Given the description of an element on the screen output the (x, y) to click on. 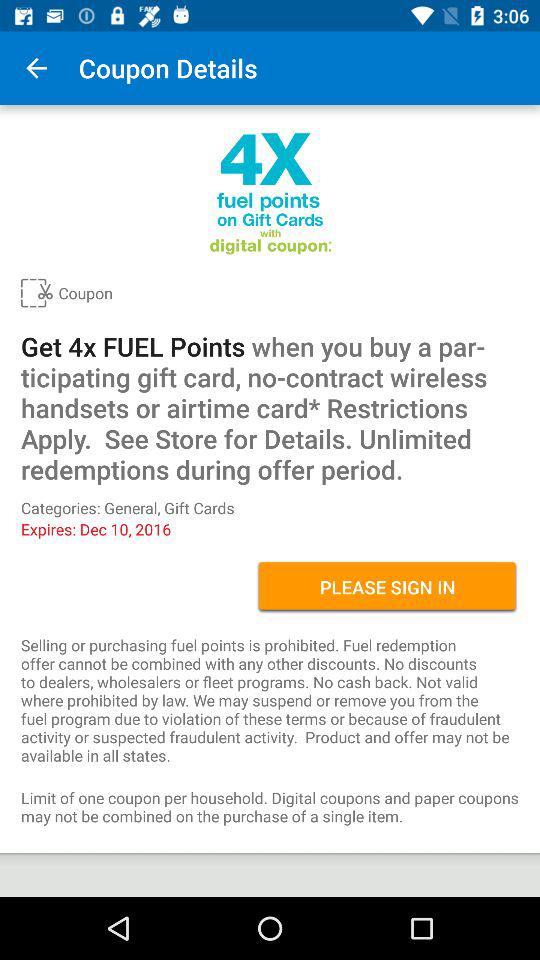
tap icon next to the coupon details item (36, 68)
